Given the description of an element on the screen output the (x, y) to click on. 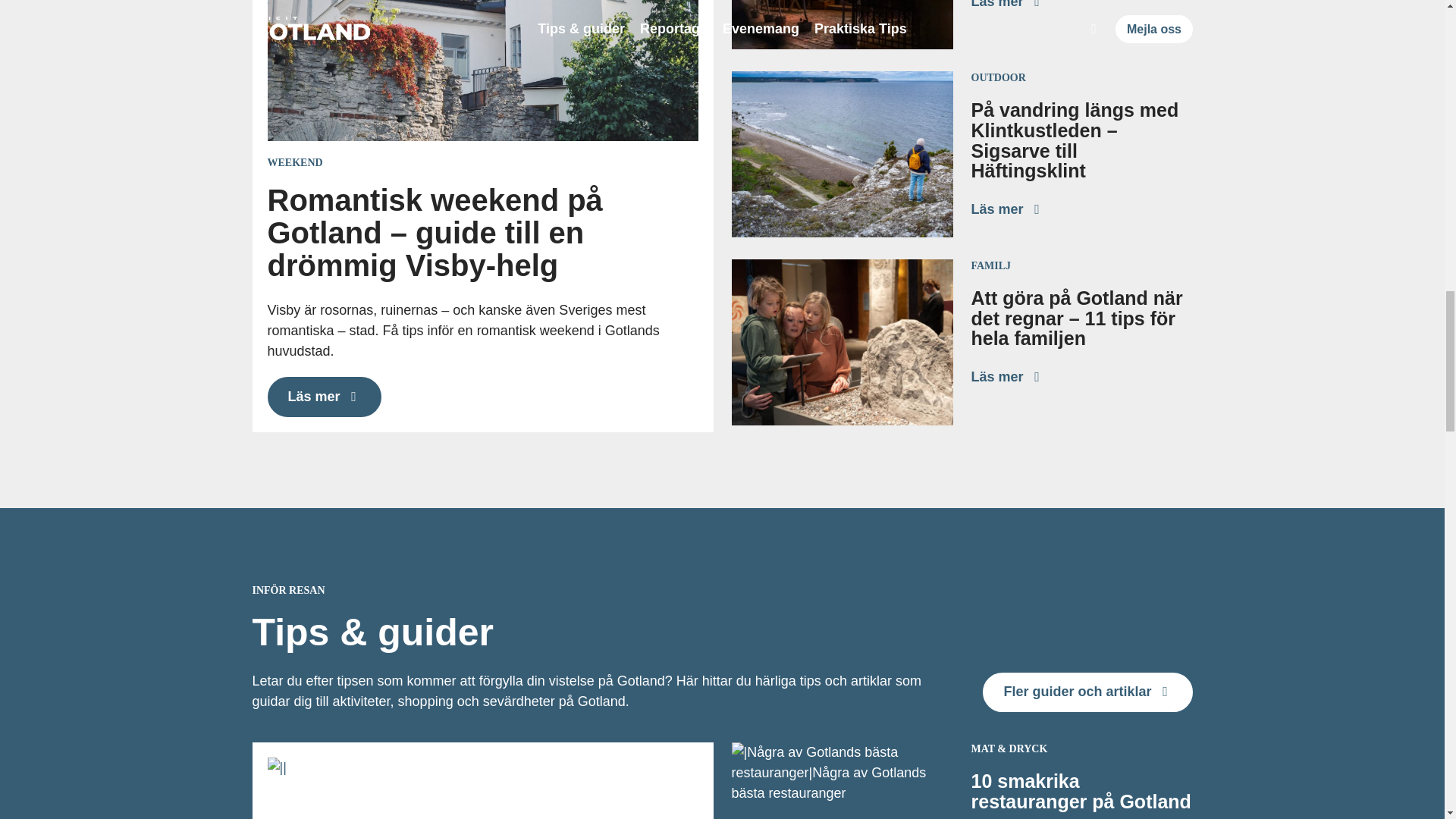
OUTDOOR (998, 78)
WEEKEND (293, 162)
FAMILJ (990, 265)
Fler guider och artiklar (1087, 692)
